Given the description of an element on the screen output the (x, y) to click on. 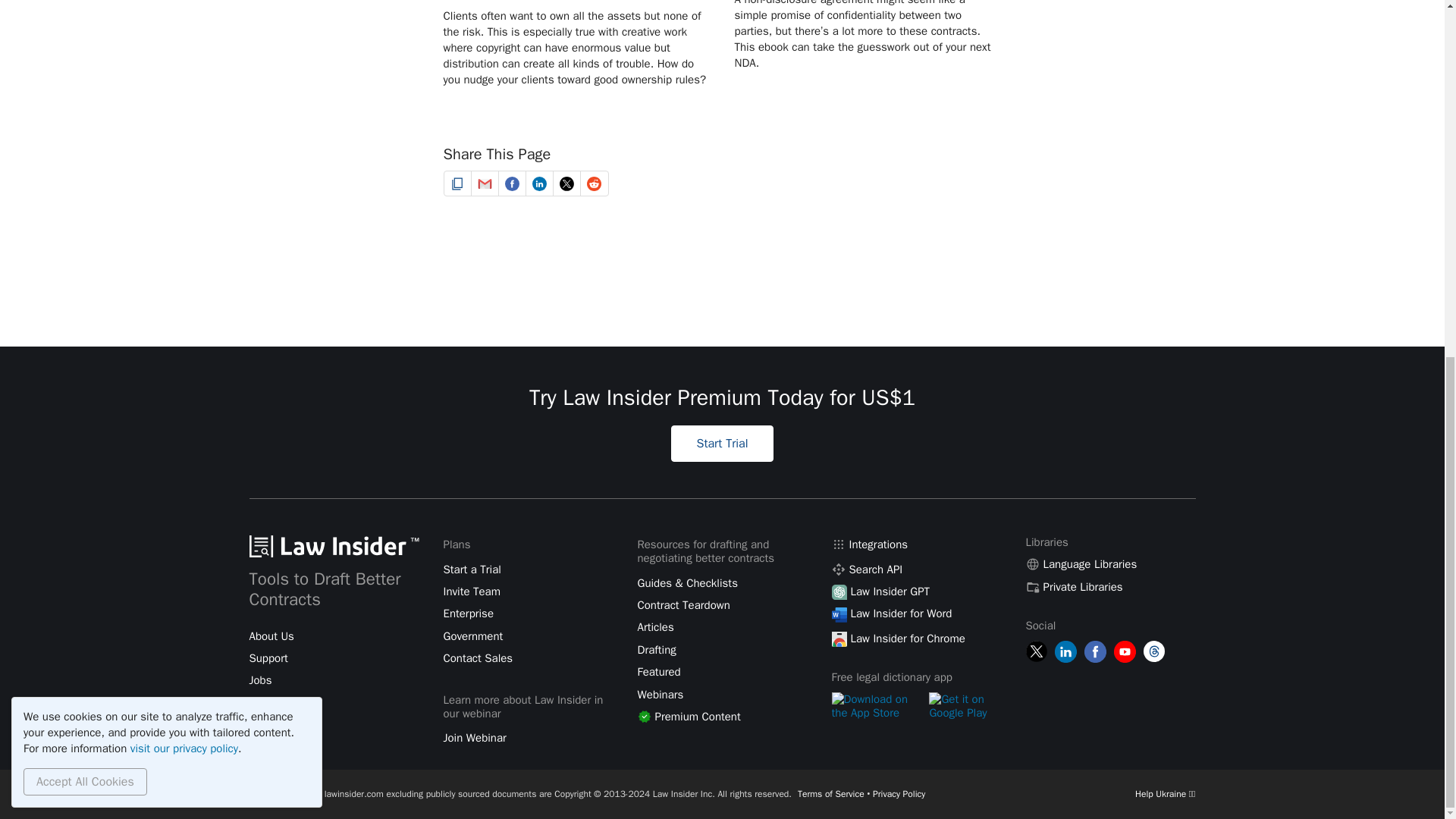
Accept All Cookies (85, 152)
Support (267, 658)
visit our privacy policy (184, 119)
Jobs (259, 679)
Plans (456, 544)
About Us (271, 635)
Start Trial (722, 443)
Start a Trial (471, 569)
